Given the description of an element on the screen output the (x, y) to click on. 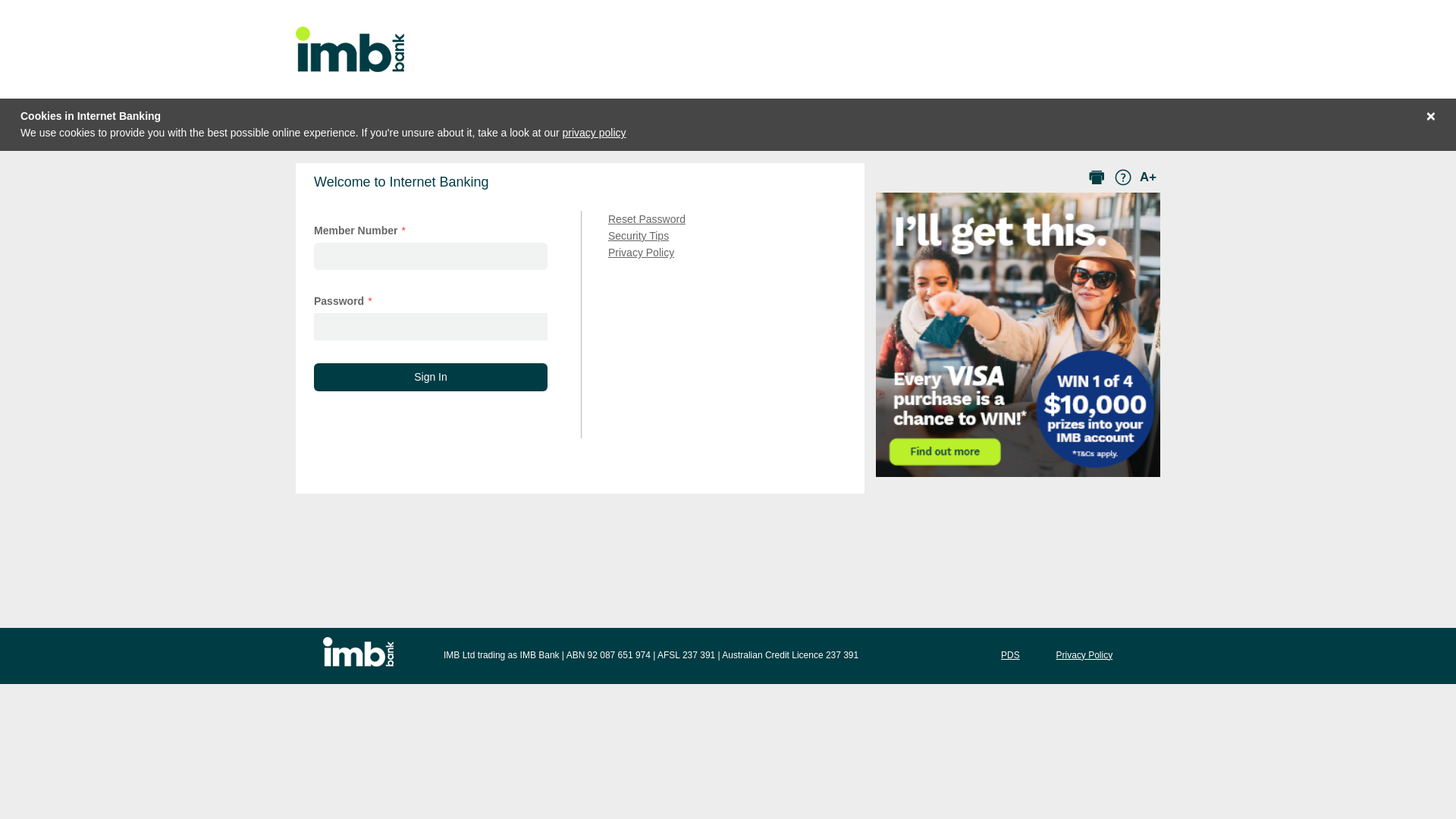
Reset Password Element type: text (646, 219)
Privacy Policy Element type: text (641, 252)
Security Tips Element type: text (638, 235)
PDS Element type: text (1010, 655)
Privacy Policy Element type: text (1084, 655)
privacy policy Element type: text (594, 132)
A+ Element type: text (1147, 176)
Sign In Element type: text (430, 376)
